Given the description of an element on the screen output the (x, y) to click on. 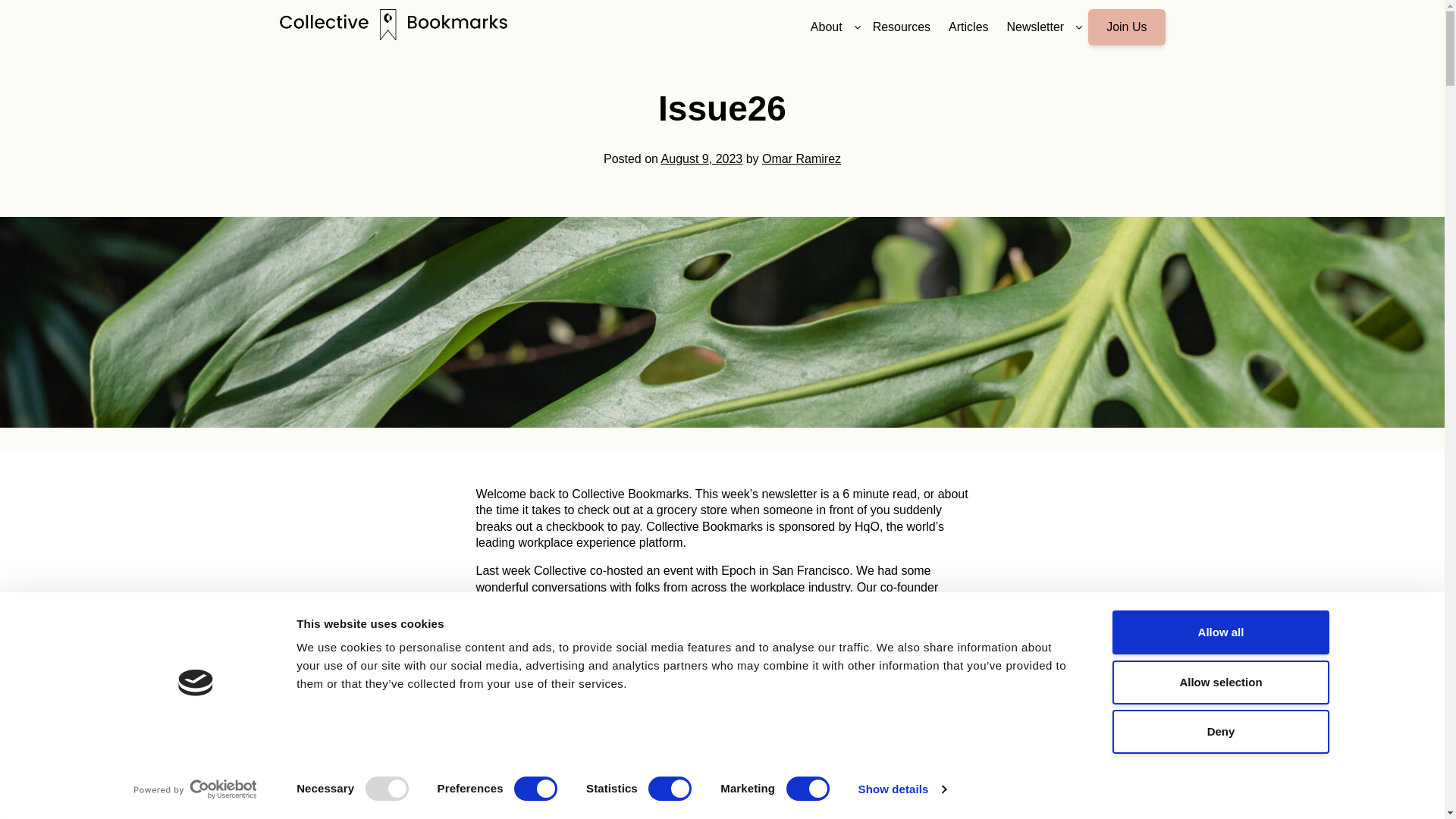
Show details (900, 789)
